Given the description of an element on the screen output the (x, y) to click on. 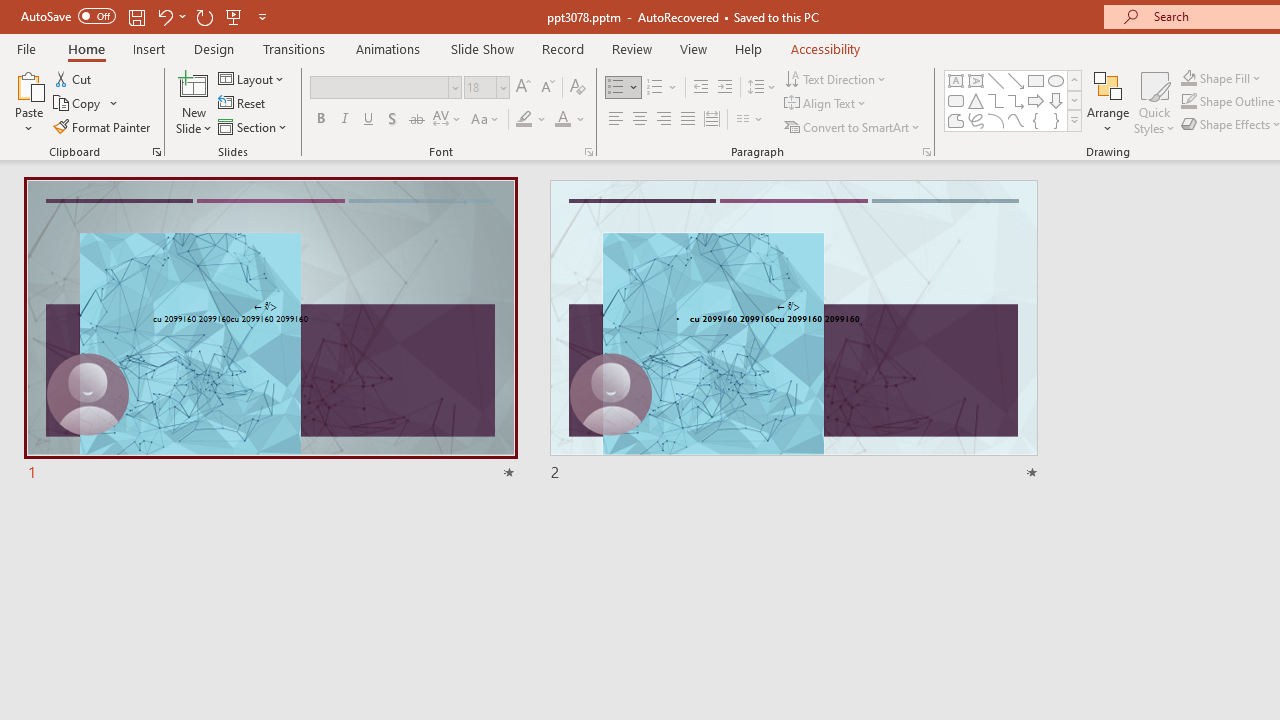
Office Clipboard... (156, 151)
